Given the description of an element on the screen output the (x, y) to click on. 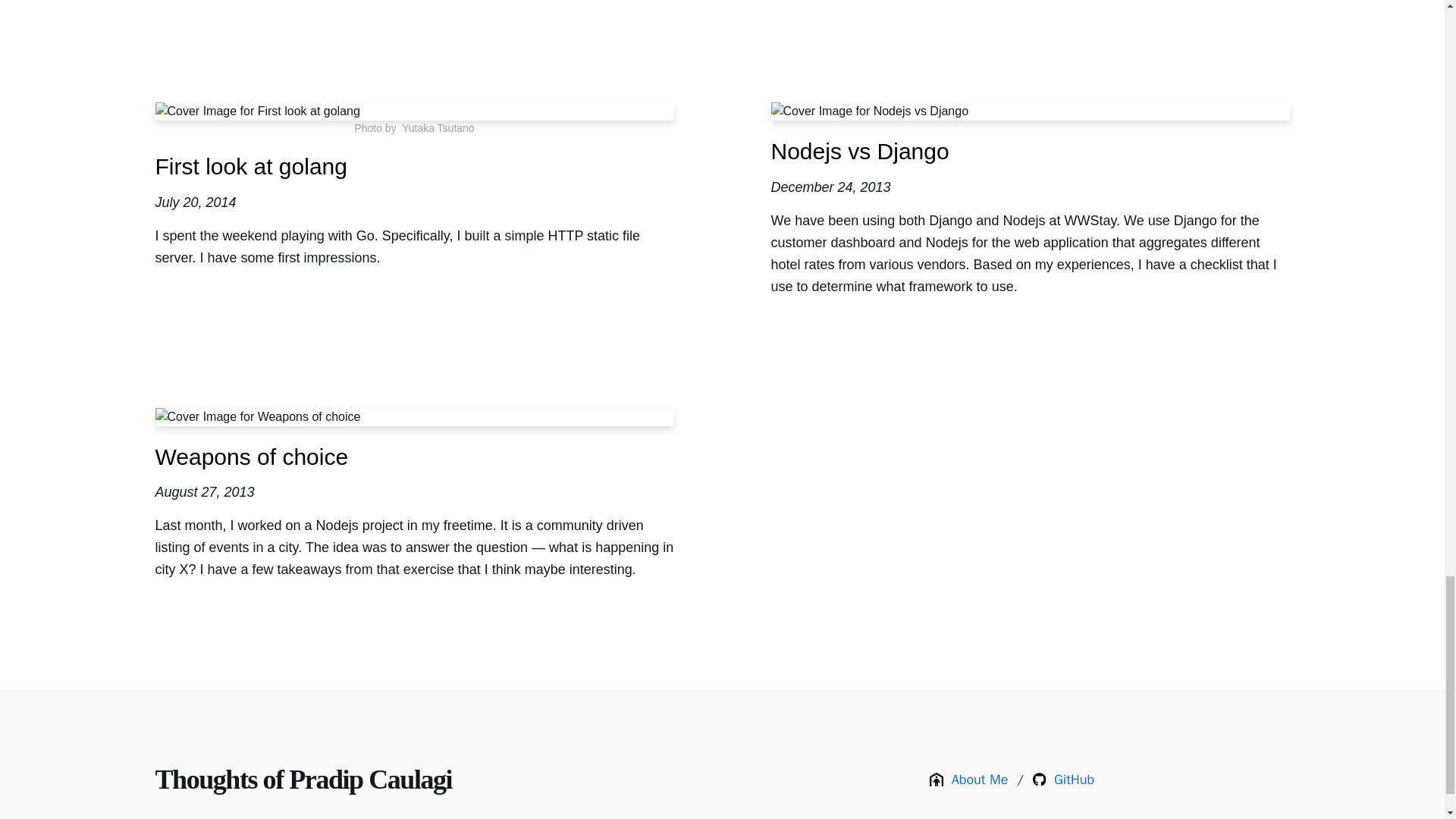
Weapons of choice (250, 456)
Nodejs vs Django (859, 150)
First look at golang (250, 166)
Yutaka Tsutano (437, 128)
  GitHub (1063, 779)
  About Me (969, 779)
Photo by   (377, 128)
